Given the description of an element on the screen output the (x, y) to click on. 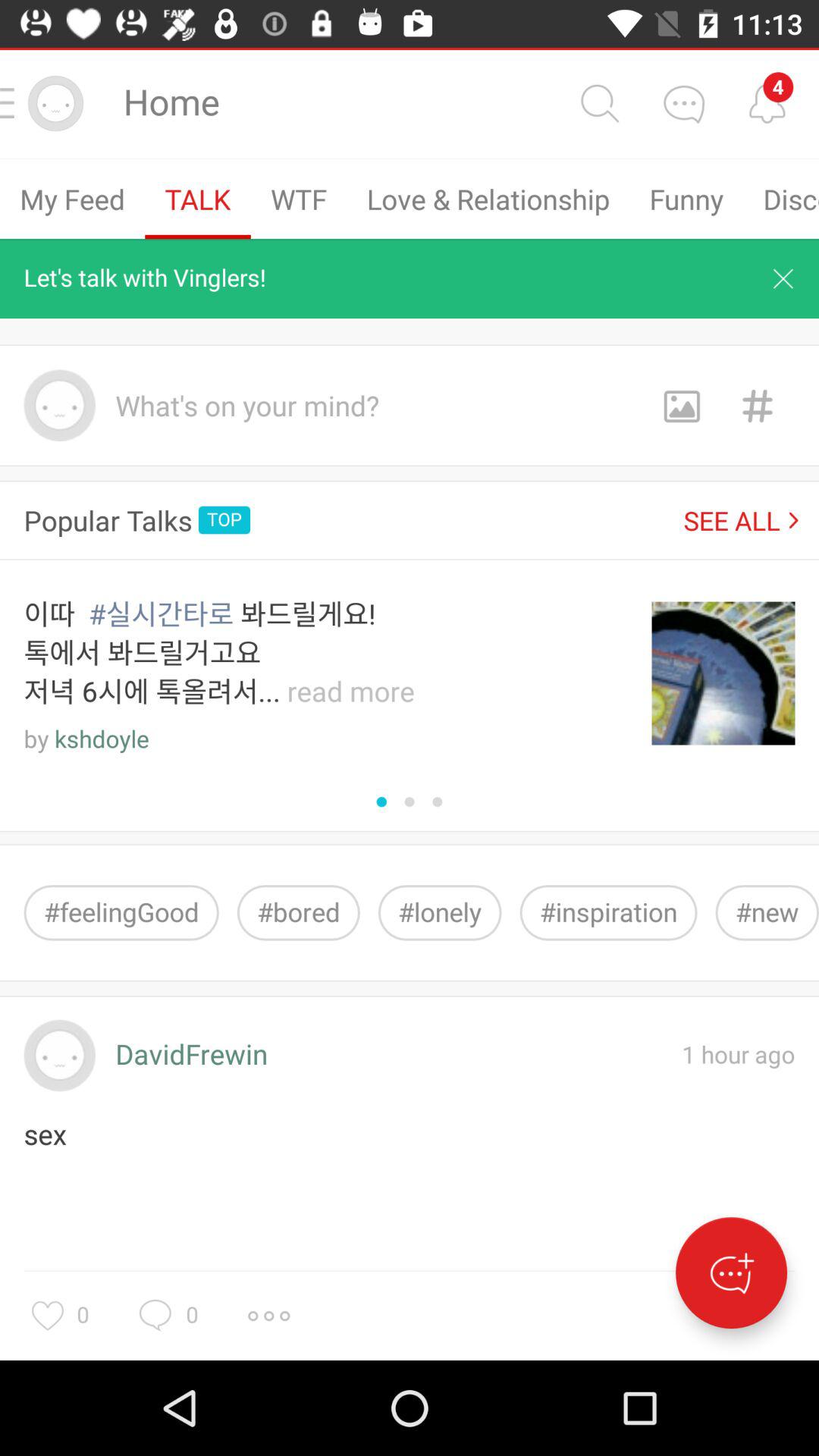
start chat (731, 1272)
